Given the description of an element on the screen output the (x, y) to click on. 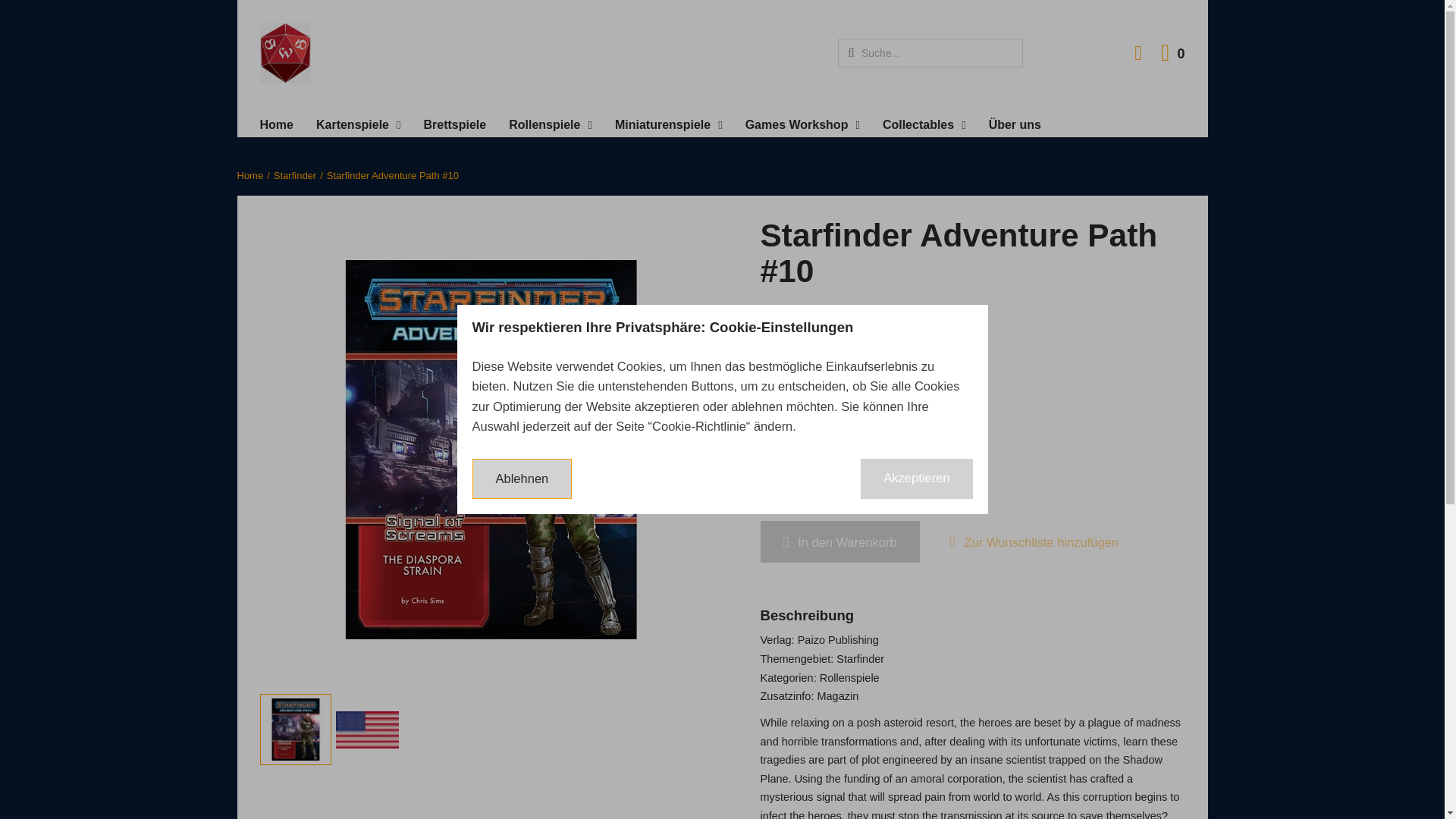
Miniaturenspiele (668, 125)
Home (275, 125)
Rollenspiele (1172, 52)
Games Workshop (550, 125)
Brettspiele (802, 125)
Kartenspiele (454, 125)
1 (358, 125)
